Given the description of an element on the screen output the (x, y) to click on. 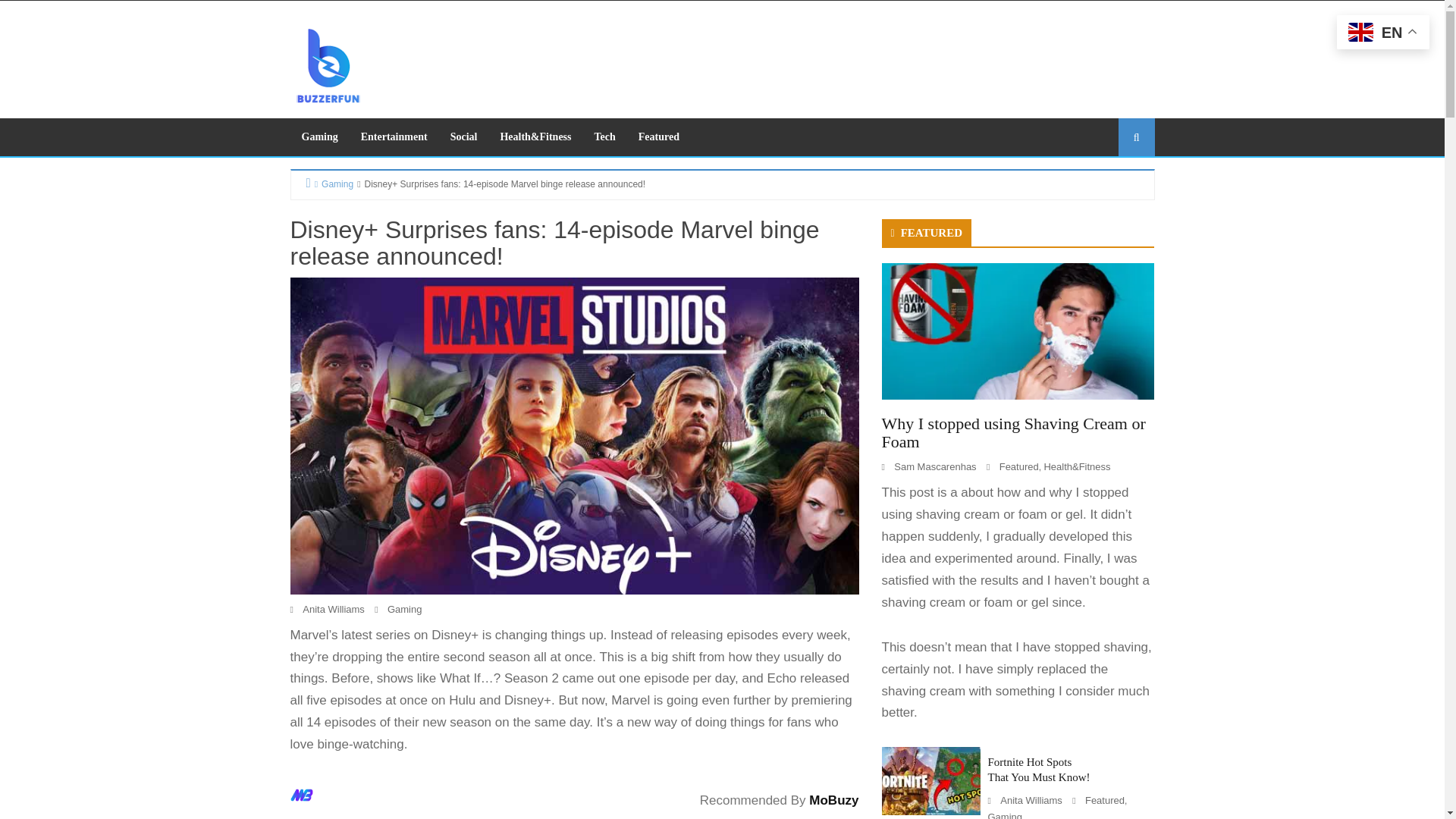
Featured (658, 136)
Gaming (319, 136)
Social (464, 136)
Entertainment (394, 136)
MoBuzy (834, 800)
Gaming (404, 609)
Gaming (332, 183)
Posts by Anita Williams (333, 609)
Gaming (319, 136)
Tech (605, 136)
Tech (605, 136)
Anita Williams (333, 609)
Featured (658, 136)
Entertainment (394, 136)
Social (464, 136)
